Given the description of an element on the screen output the (x, y) to click on. 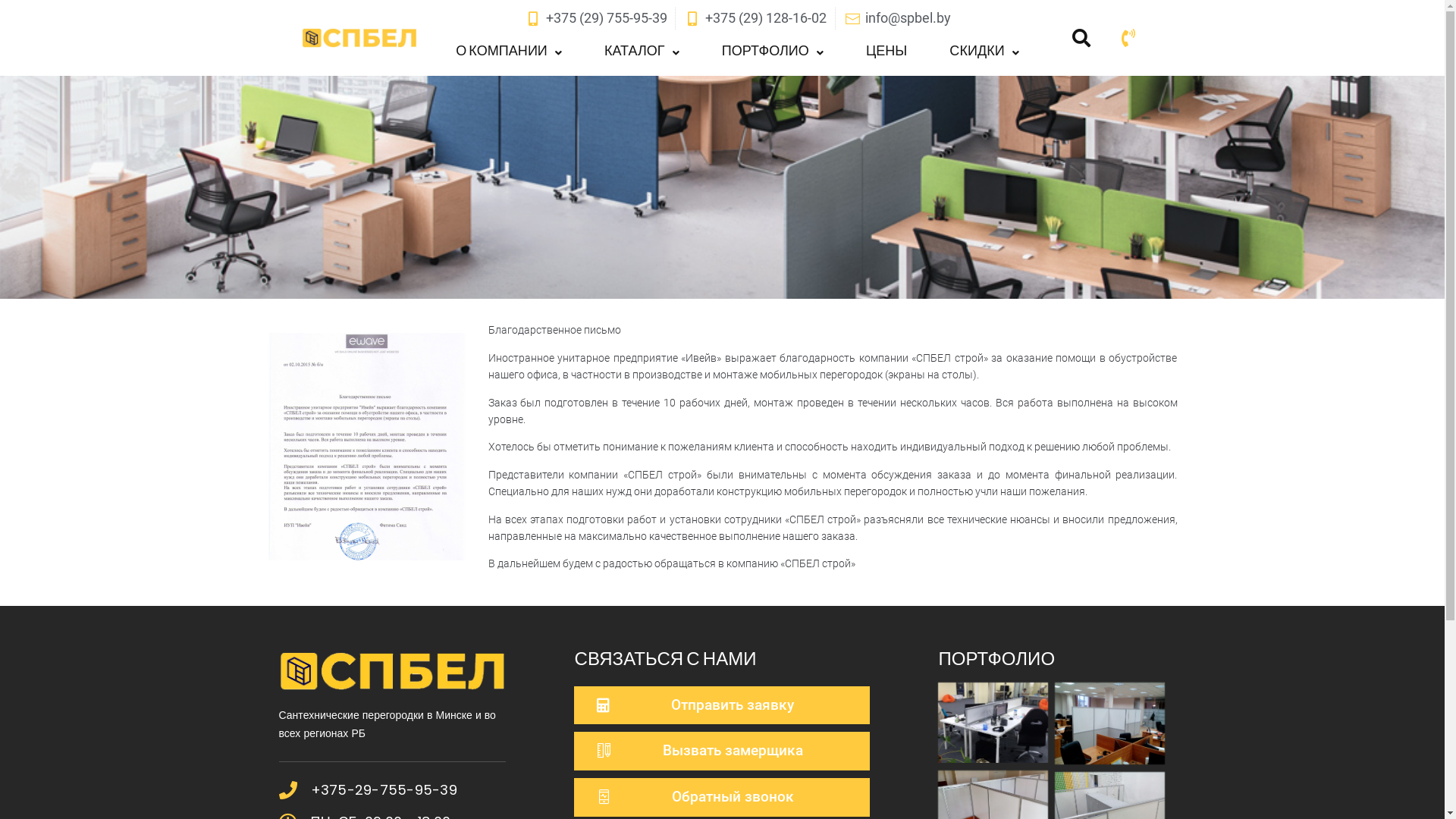
info@spbel.by Element type: text (896, 18)
+375 (29) 755-95-39 Element type: text (595, 18)
+375-29-755-95-39 Element type: text (383, 790)
+375 (29) 128-16-02 Element type: text (755, 18)
